Given the description of an element on the screen output the (x, y) to click on. 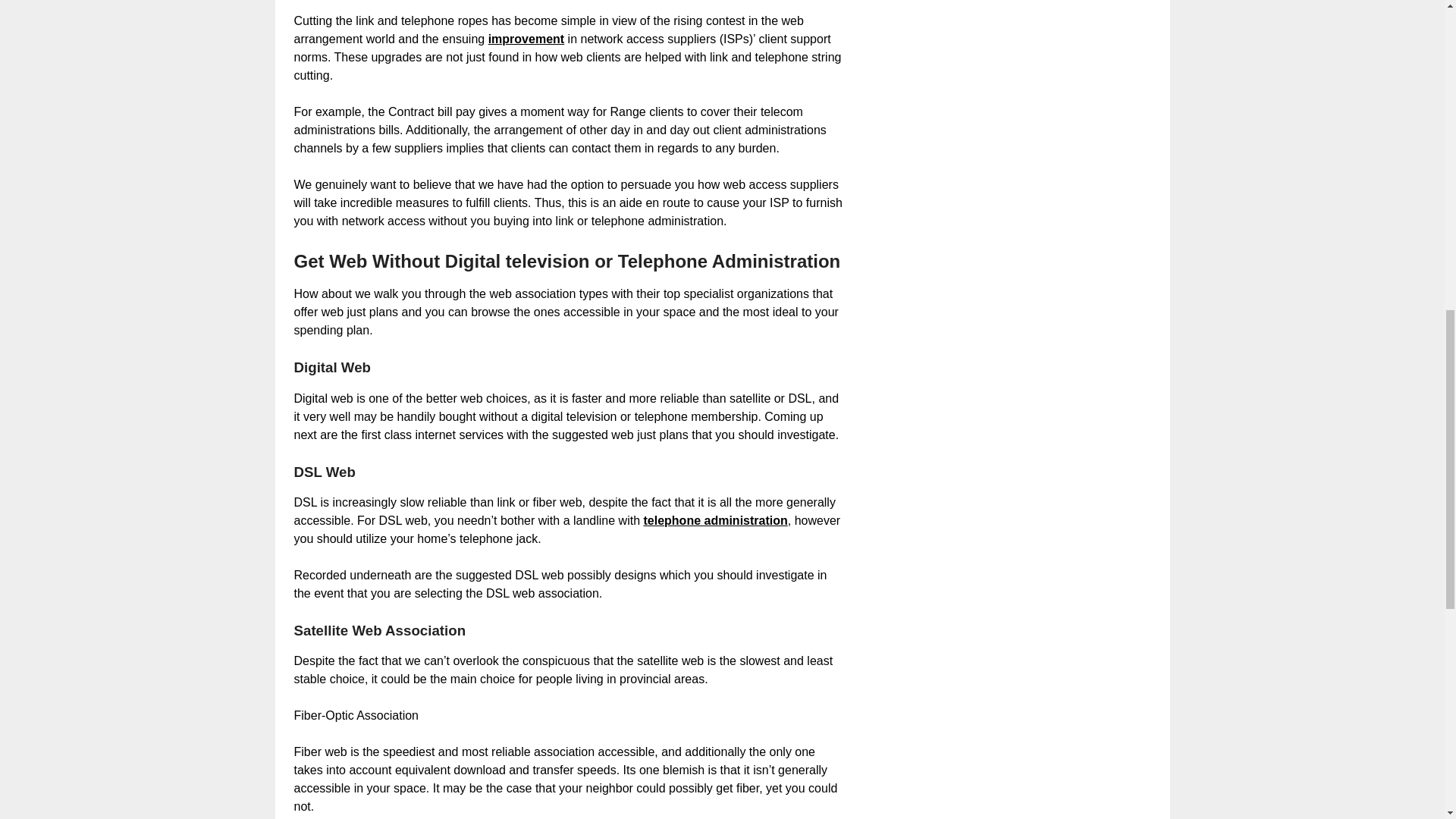
telephone administration (715, 520)
improvement (525, 38)
